Given the description of an element on the screen output the (x, y) to click on. 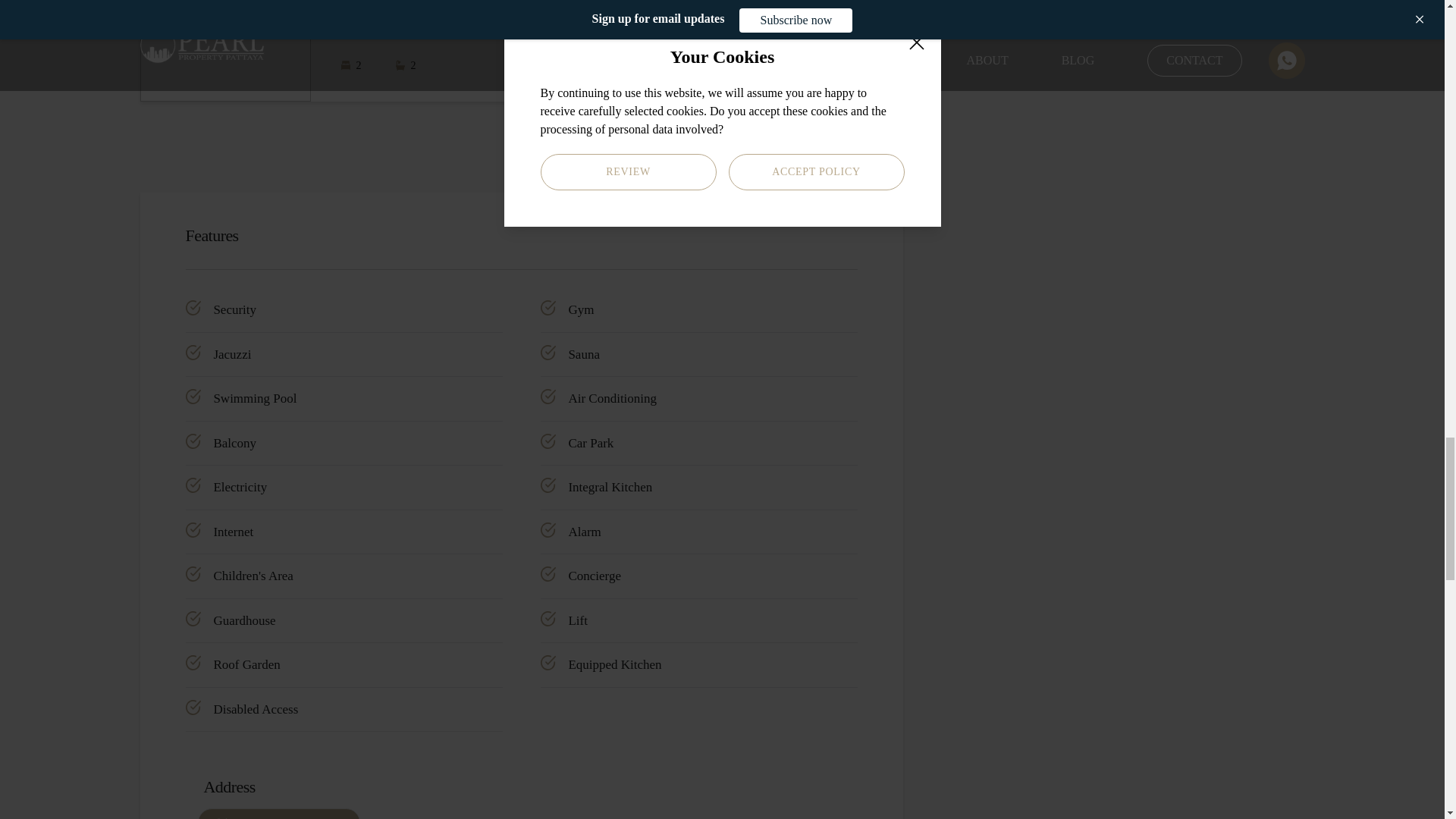
Compare (856, 74)
Preview (833, 74)
